Given the description of an element on the screen output the (x, y) to click on. 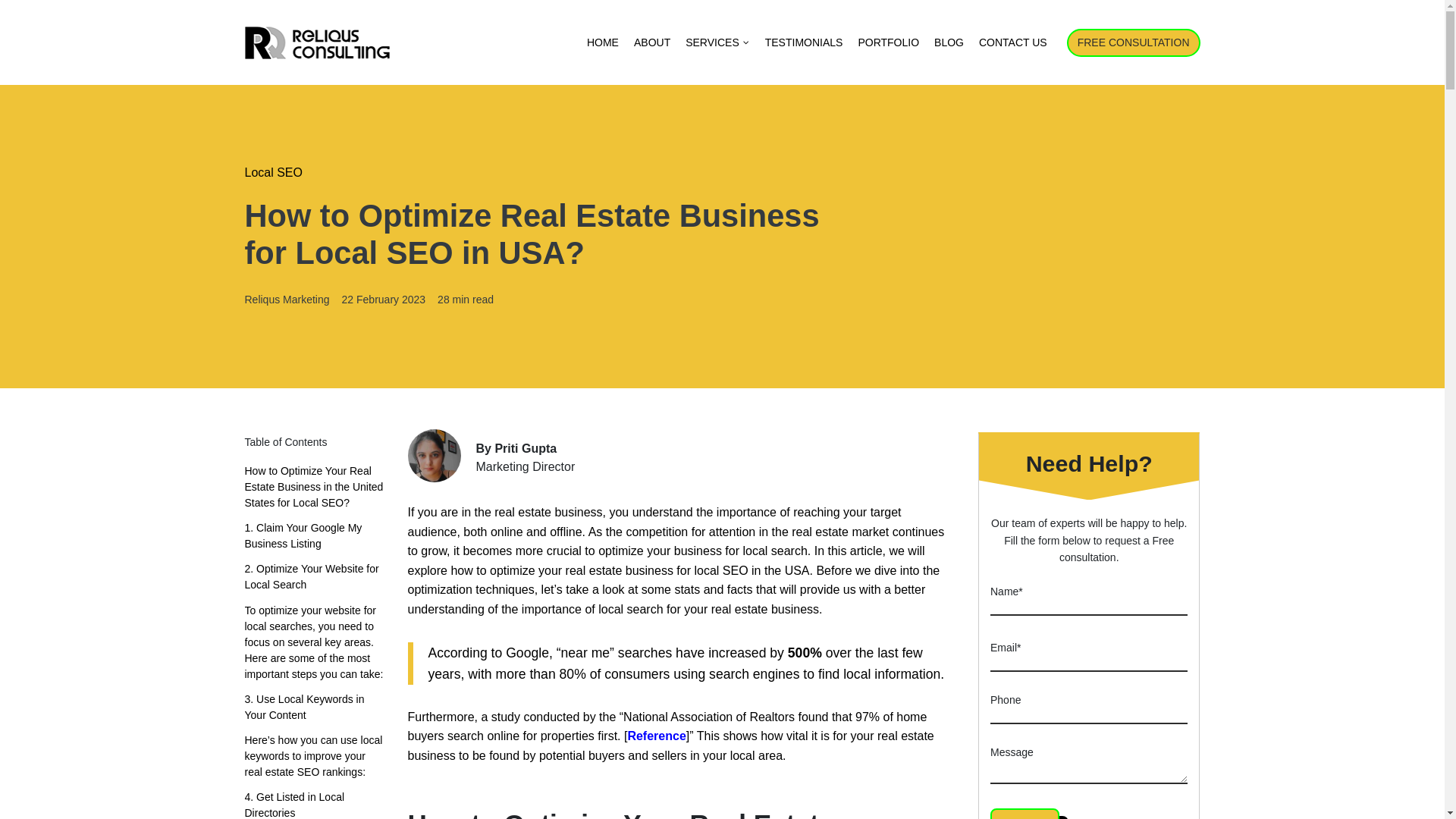
1. Claim Your Google My Business Listing (314, 536)
PORTFOLIO (888, 42)
3. Use Local Keywords in Your Content (314, 707)
Reliqus Marketing (286, 299)
SERVICES (717, 42)
Submit (1024, 813)
HOME (602, 42)
BLOG (948, 42)
FREE CONSULTATION (1133, 42)
CONTACT US (1012, 42)
4. Get Listed in Local Directories (314, 804)
2. Optimize Your Website for Local Search (314, 576)
TESTIMONIALS (803, 42)
